Given the description of an element on the screen output the (x, y) to click on. 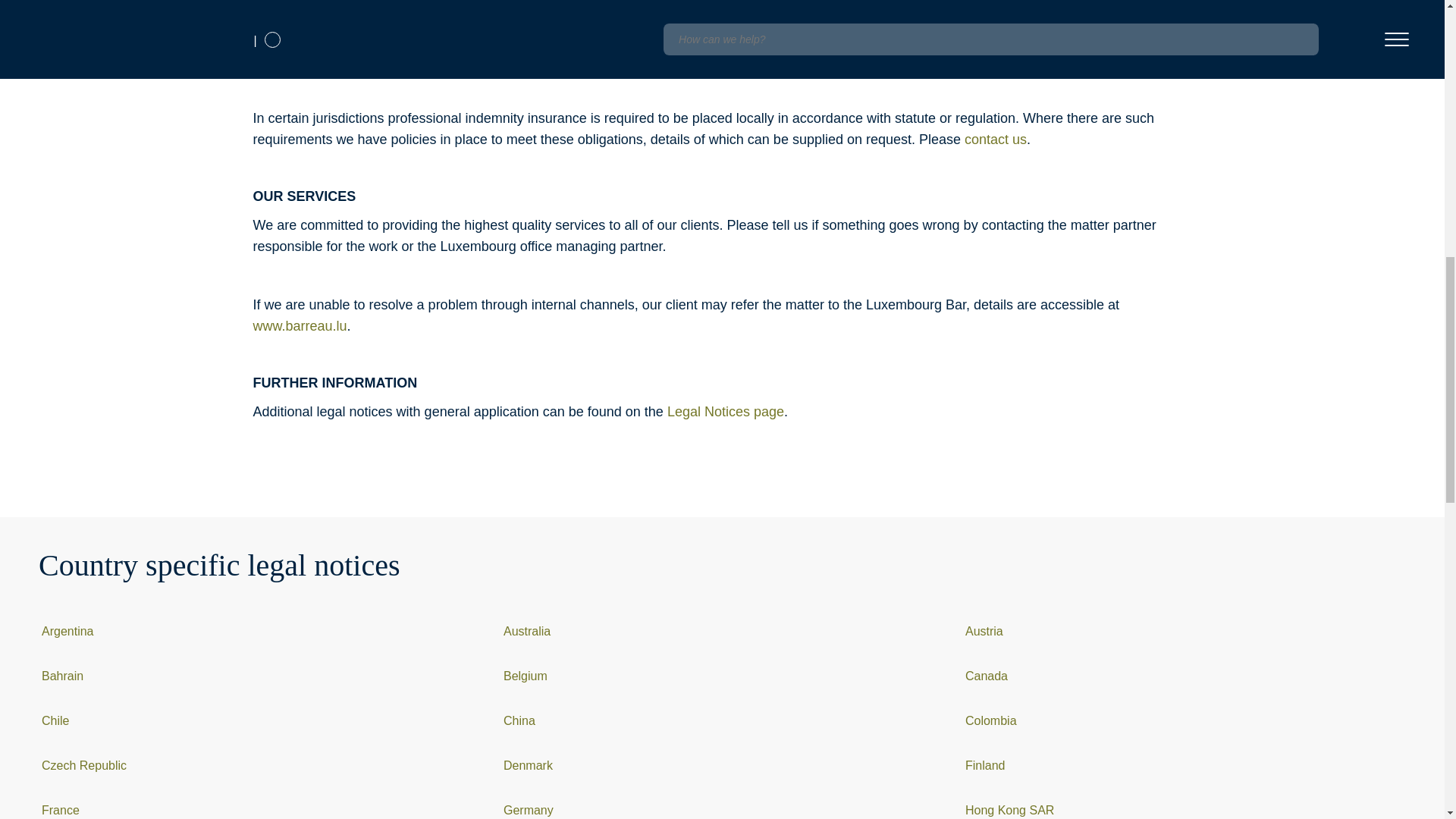
Finland (984, 765)
Legal Notices page (725, 411)
Australia (526, 631)
Hong Kong SAR (1009, 809)
Denmark (528, 765)
contact us (994, 139)
Argentina (68, 631)
Germany (528, 809)
Canada (986, 675)
Chile (55, 720)
Austria (984, 631)
France (61, 809)
www.barreau.lu (298, 325)
Czech Republic (84, 765)
Bahrain (62, 675)
